Given the description of an element on the screen output the (x, y) to click on. 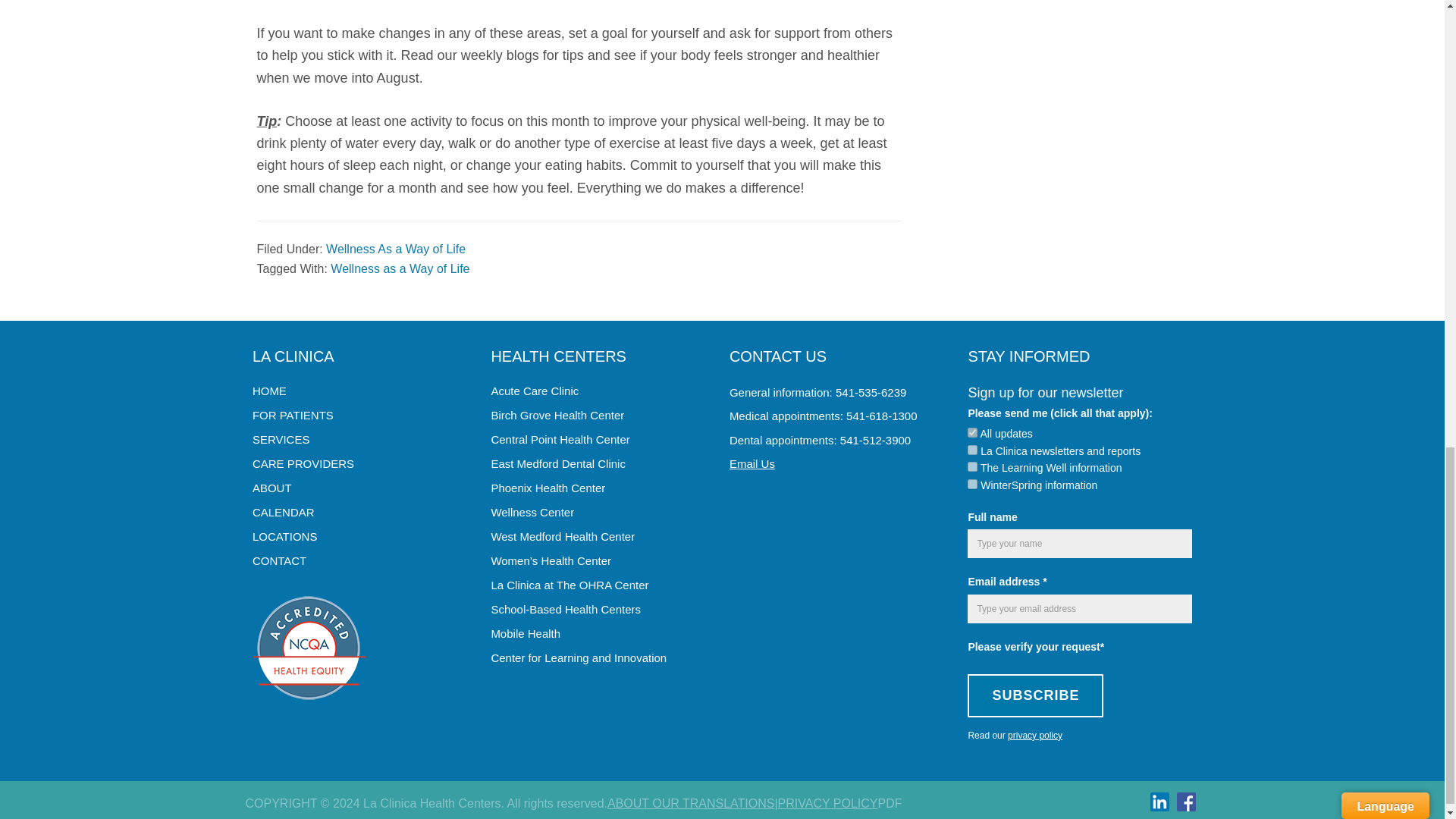
La Clinica newsletters and reports (972, 450)
All updates (972, 432)
WinterSpring information (972, 483)
The Learning Well information (972, 466)
